Given the description of an element on the screen output the (x, y) to click on. 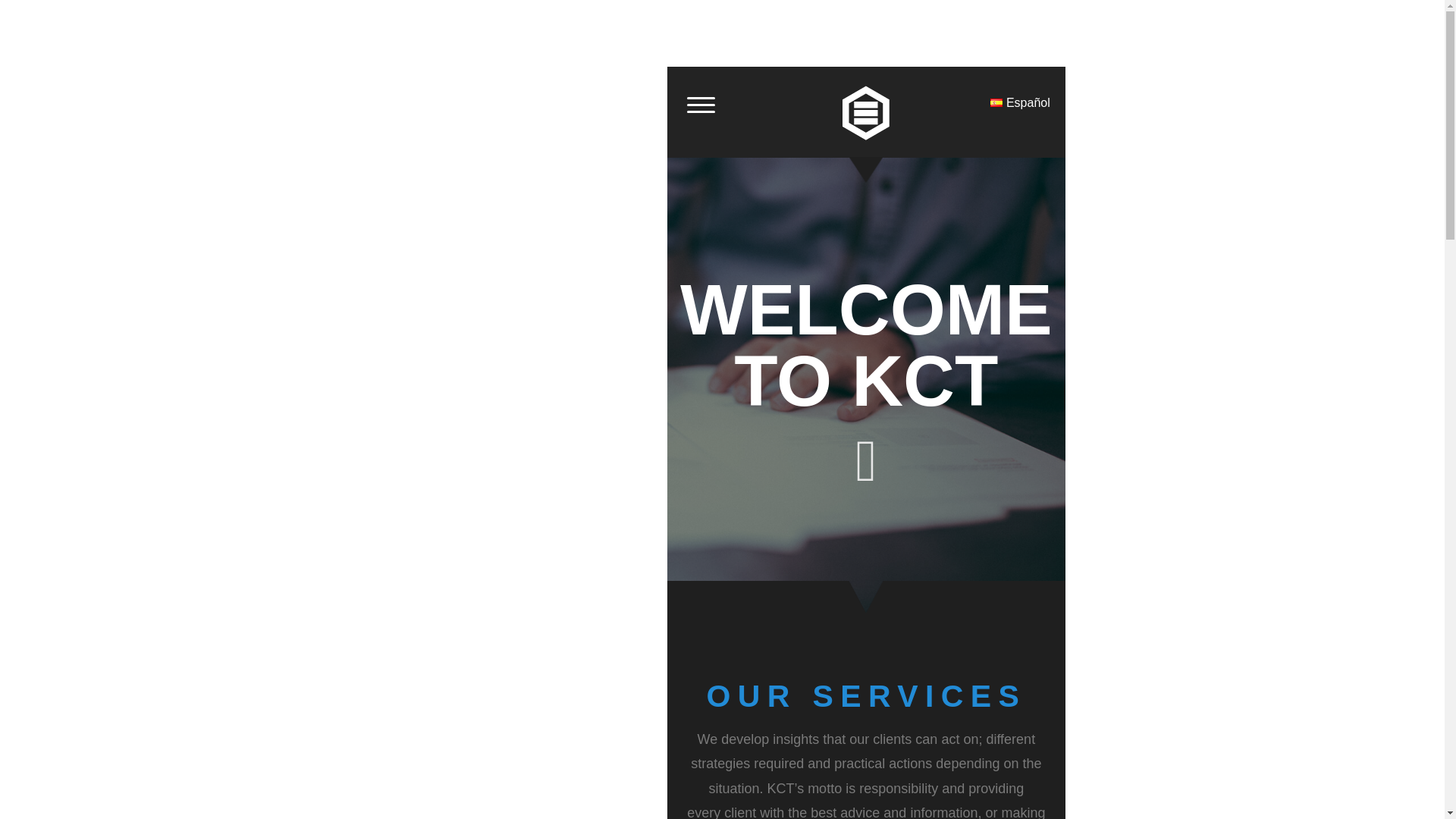
KCT-WHITE-LOGO-80 (864, 111)
